Given the description of an element on the screen output the (x, y) to click on. 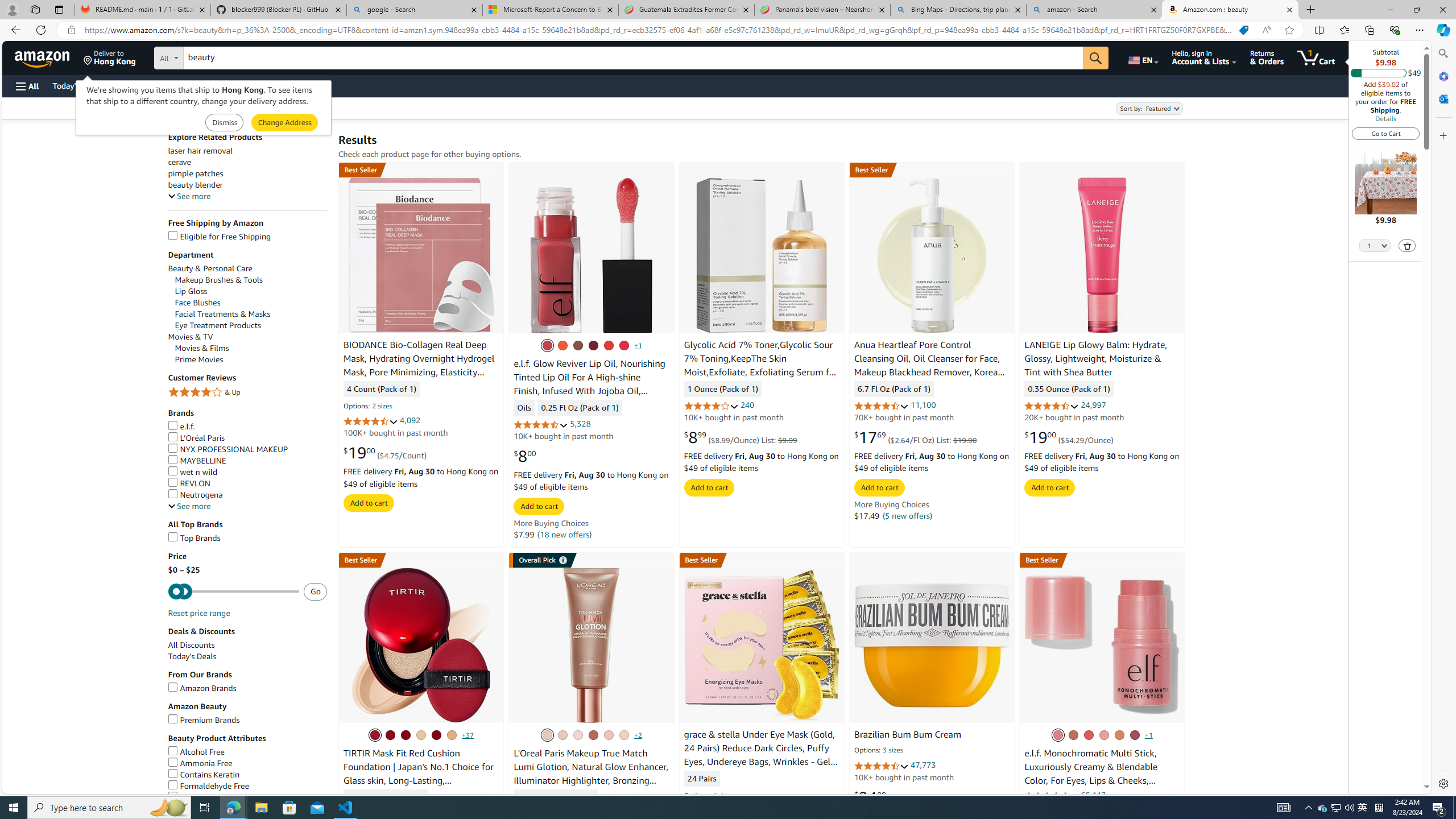
Neutrogena (194, 494)
Beauty & Personal Care (209, 268)
